Given the description of an element on the screen output the (x, y) to click on. 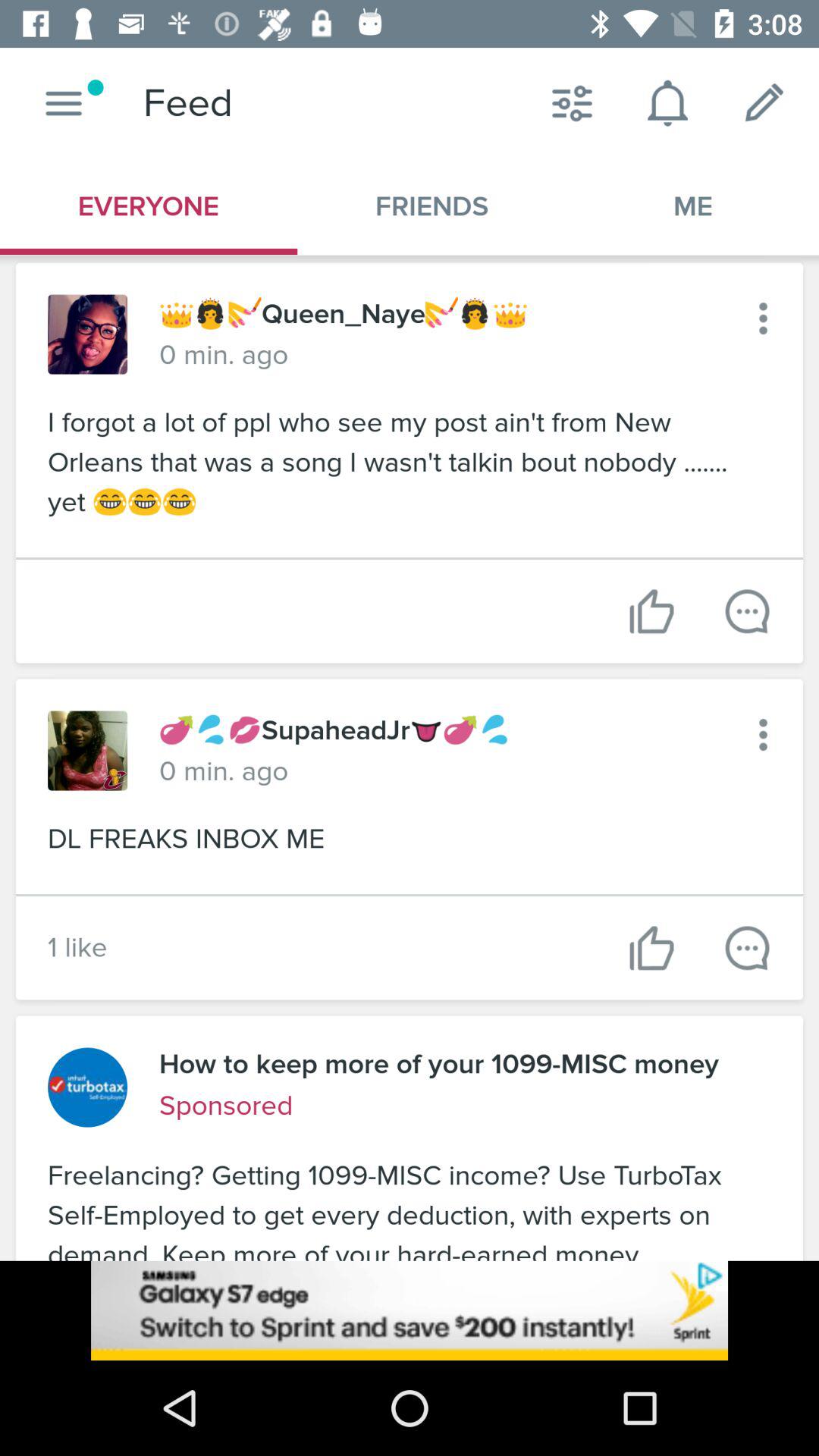
like post (651, 611)
